Given the description of an element on the screen output the (x, y) to click on. 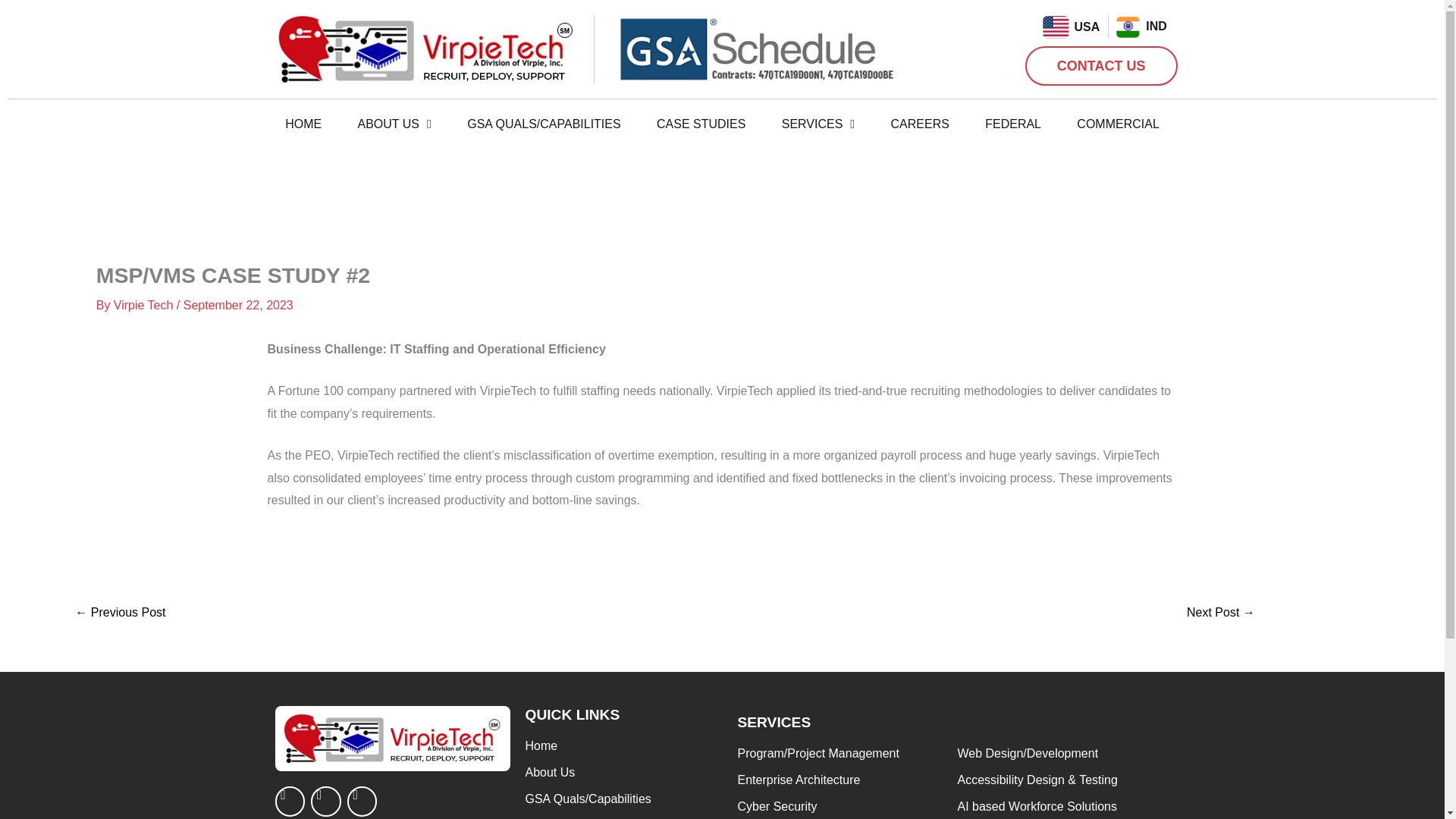
View all posts by Virpie Tech (144, 305)
CONTACT US (1101, 65)
HOME (302, 124)
CAREERS (920, 124)
ABOUT US (394, 124)
FEDERAL (1013, 124)
SERVICES (817, 124)
COMMERCIAL (1118, 124)
USA (1087, 26)
CASE STUDIES (700, 124)
